Given the description of an element on the screen output the (x, y) to click on. 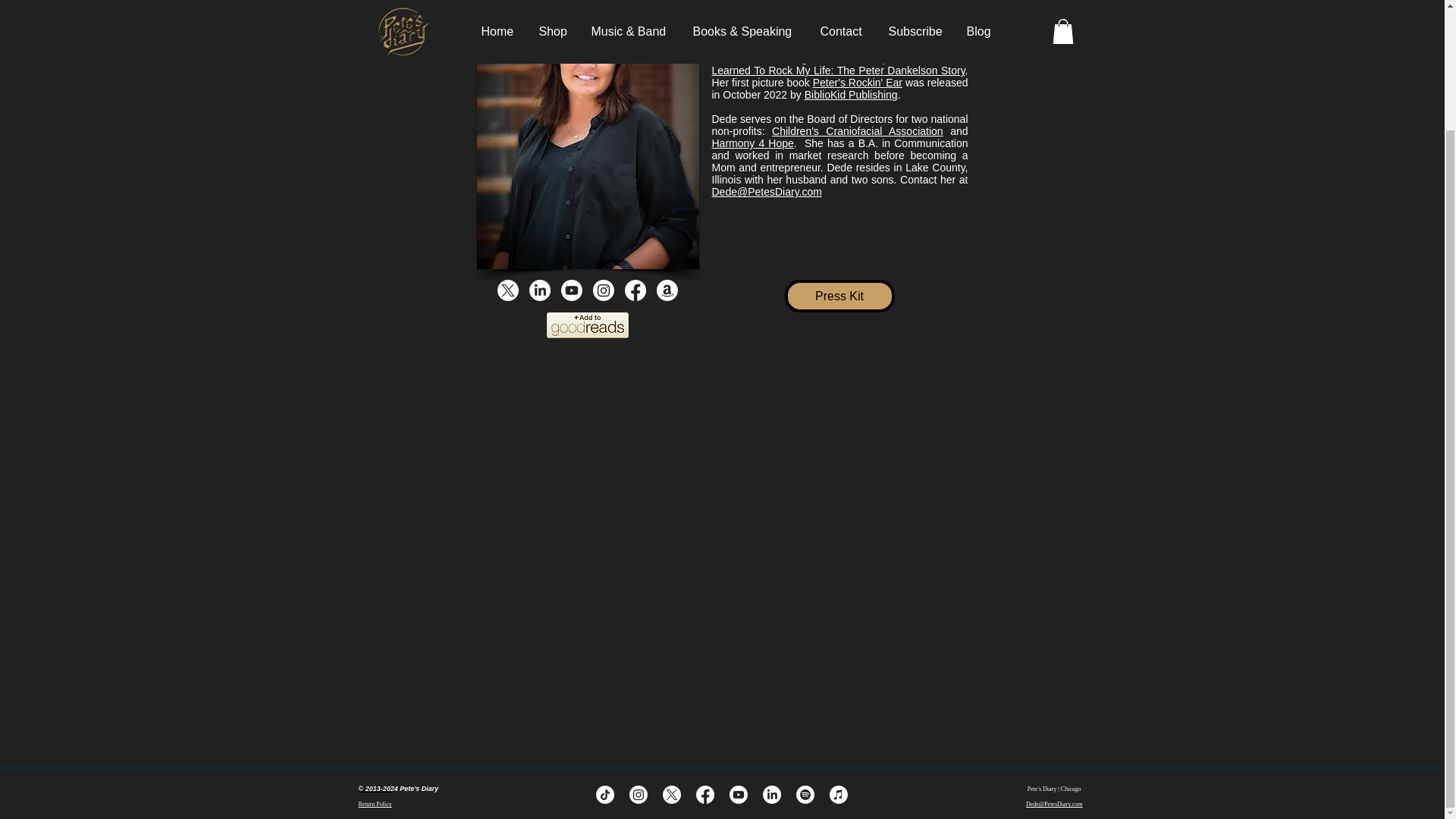
Peter's Rockin' Ear (857, 82)
How I Learned To Rock My Life: The Peter Dankelson Story (839, 64)
BiblioKid Publishing (851, 94)
Privacy Policy (375, 788)
Return Policy (374, 803)
Press Kit (838, 296)
Children's Craniofacial Association (857, 131)
Harmony 4 Hope (752, 143)
Peter Dankelson (750, 2)
